Given the description of an element on the screen output the (x, y) to click on. 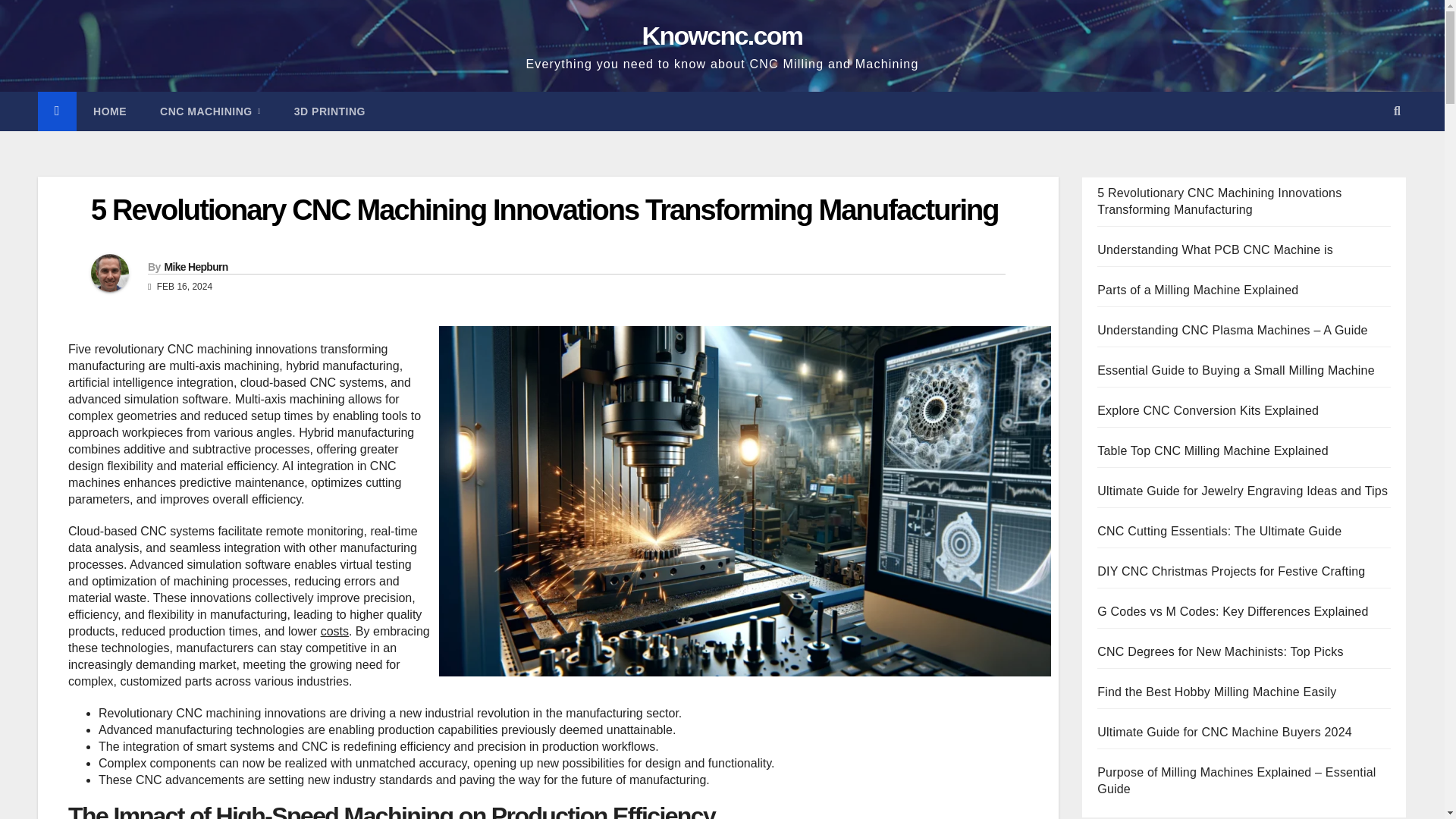
3D Printing (329, 111)
costs (334, 631)
Ultimate Guide for Jewelry Engraving Ideas and Tips (1242, 490)
CNC Machining (210, 111)
Mike Hepburn (195, 266)
HOME (109, 111)
CNC Degrees for New Machinists: Top Picks (1219, 651)
Home (109, 111)
DIY CNC Christmas Projects for Festive Crafting (1231, 571)
CNC Cutting Essentials: The Ultimate Guide (1218, 530)
Explore CNC Conversion Kits Explained (1208, 410)
3D PRINTING (329, 111)
